Given the description of an element on the screen output the (x, y) to click on. 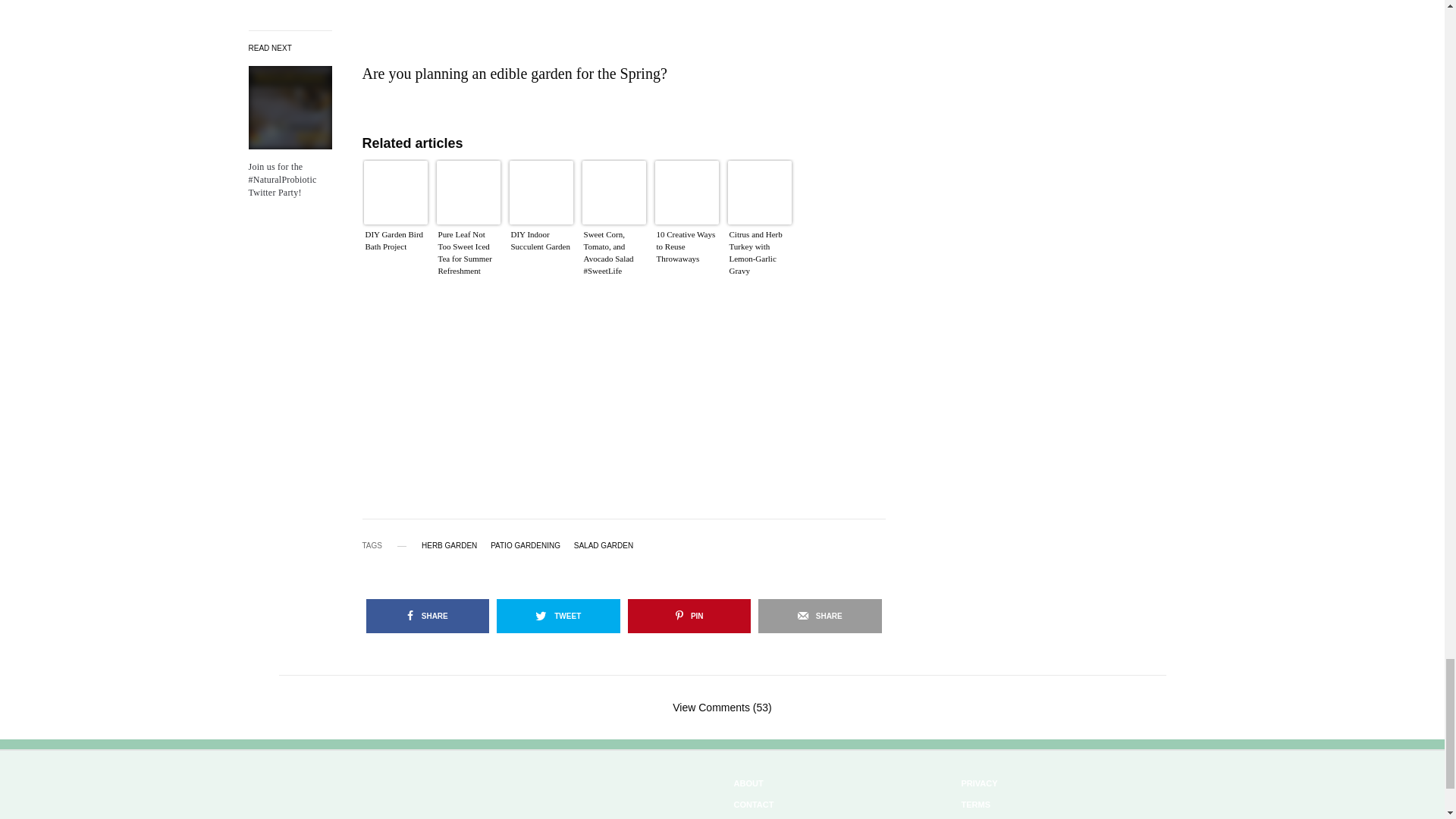
PATIO GARDENING (525, 545)
HERB GARDEN (449, 545)
Citrus and Herb Turkey with Lemon-Garlic Gravy (760, 255)
SALAD GARDEN (603, 545)
DIY Indoor Succulent Garden (541, 255)
10 Creative Ways to Reuse Throwaways (687, 255)
DIY Garden Bird Bath Project (396, 255)
Pure Leaf Not Too Sweet Iced Tea for Summer Refreshment (468, 255)
